Given the description of an element on the screen output the (x, y) to click on. 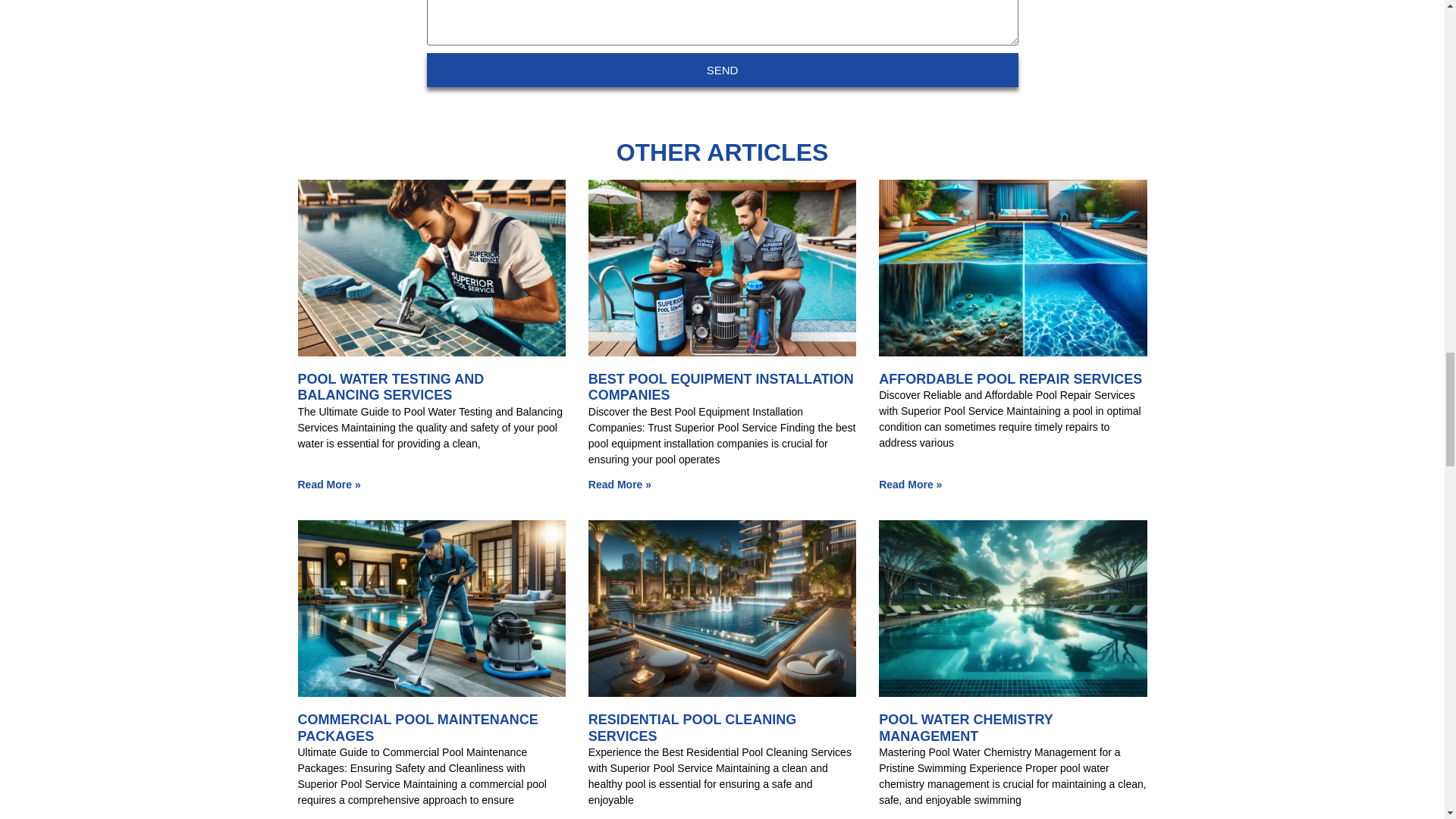
BEST POOL EQUIPMENT INSTALLATION COMPANIES (720, 387)
POOL WATER TESTING AND BALANCING SERVICES (390, 387)
SEND (721, 69)
